Given the description of an element on the screen output the (x, y) to click on. 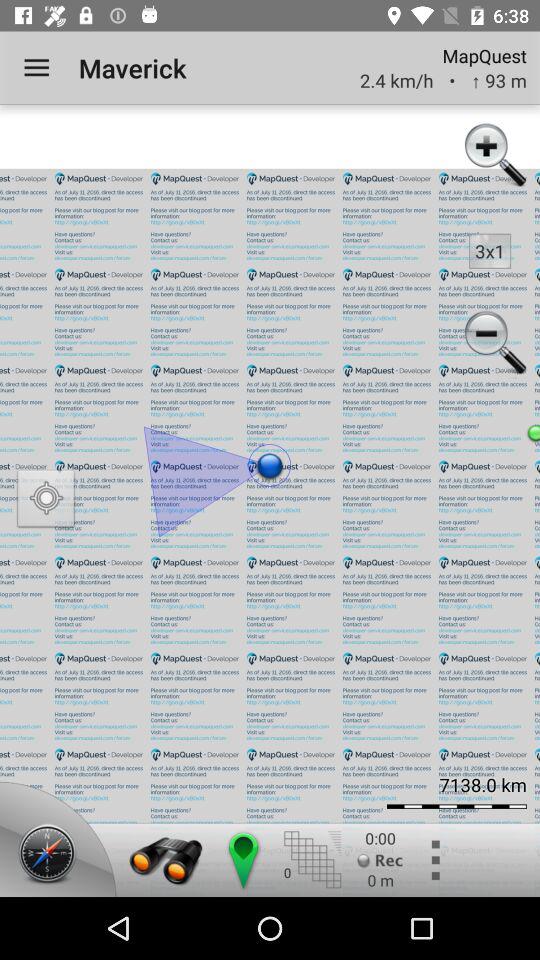
more options (434, 860)
